Given the description of an element on the screen output the (x, y) to click on. 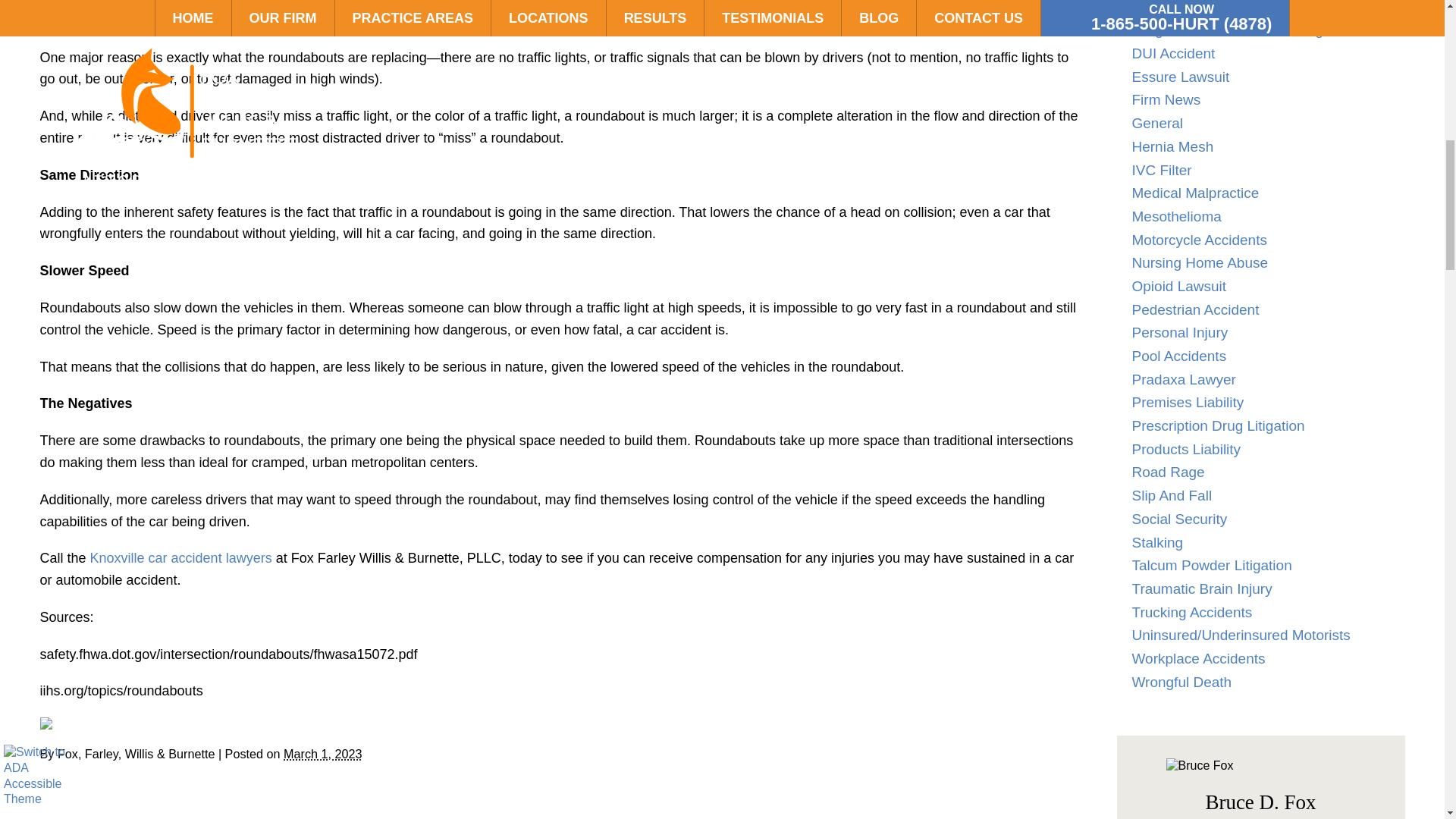
Facebook (44, 723)
Bruce Fox (1260, 765)
LinkedIn (66, 723)
Twitter (55, 723)
2023-03-01T07:06:25-0800 (322, 753)
